Given the description of an element on the screen output the (x, y) to click on. 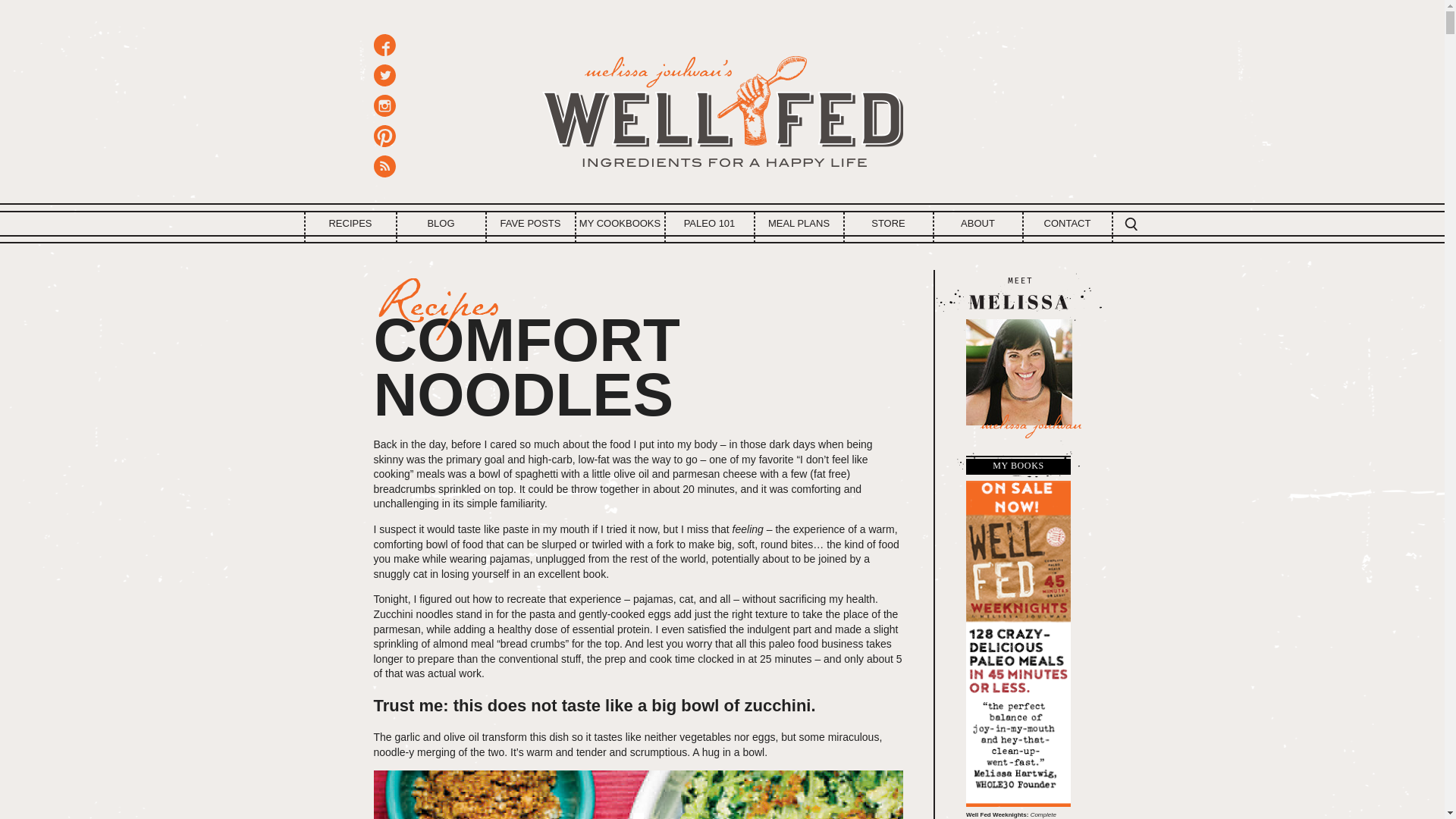
CONTACT (1067, 223)
RECIPES (349, 223)
MY COOKBOOKS (619, 223)
Melissa Joulwan's Well Fed - Ingredients for a Happy Life (721, 106)
PALEO 101 (709, 223)
BLOG (440, 223)
FAVE POSTS (530, 223)
ABOUT (978, 223)
STORE (888, 223)
MEAL PLANS (799, 223)
